Given the description of an element on the screen output the (x, y) to click on. 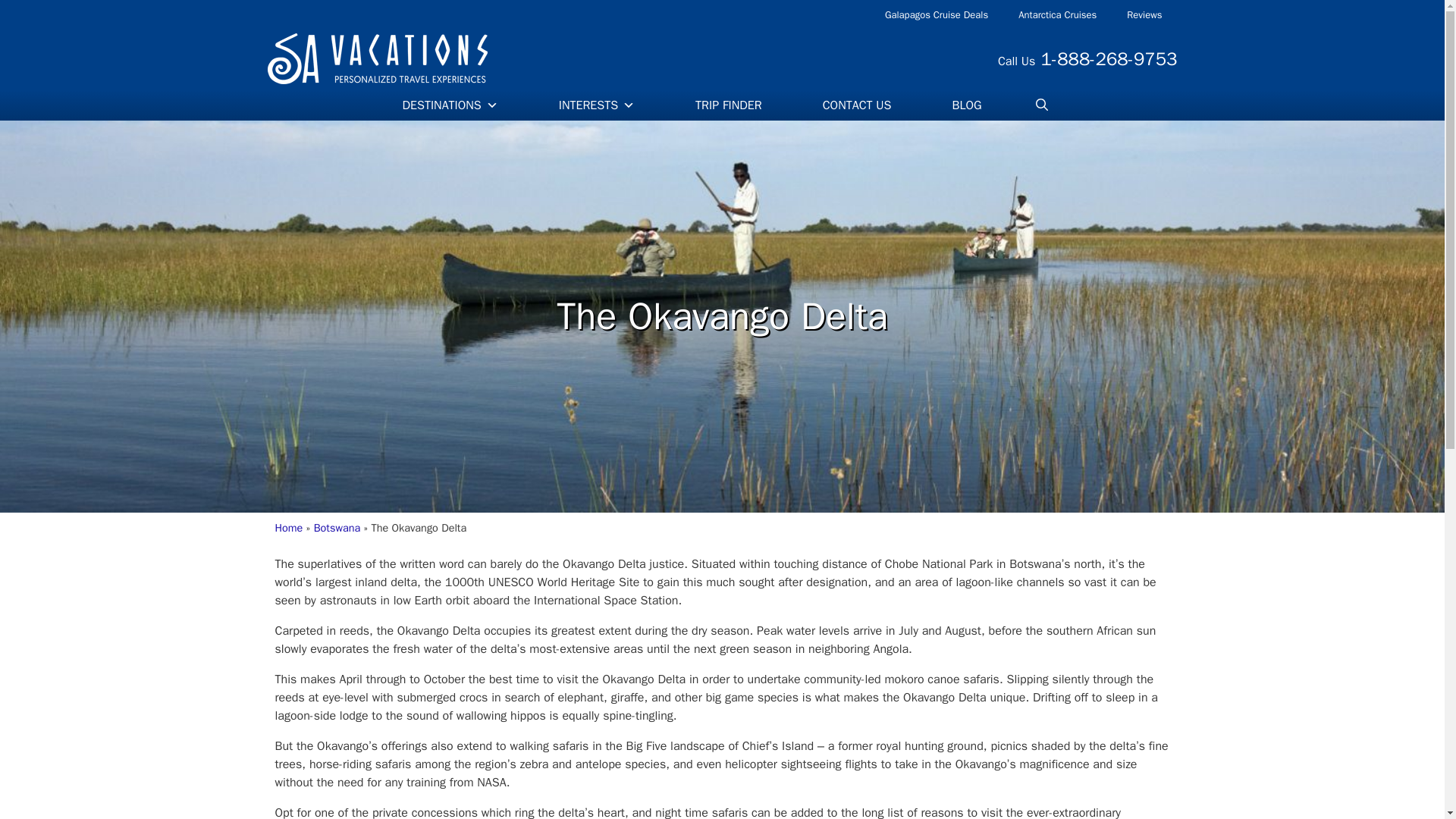
Galapagos Cruise Deals (936, 15)
Reviews (1144, 15)
Galapagos Cruise Deals (936, 15)
Reviews (1144, 15)
Antarctica Cruises (1057, 15)
1-888-268-9753 (1109, 57)
Antarctica Cruises (1057, 15)
